Given the description of an element on the screen output the (x, y) to click on. 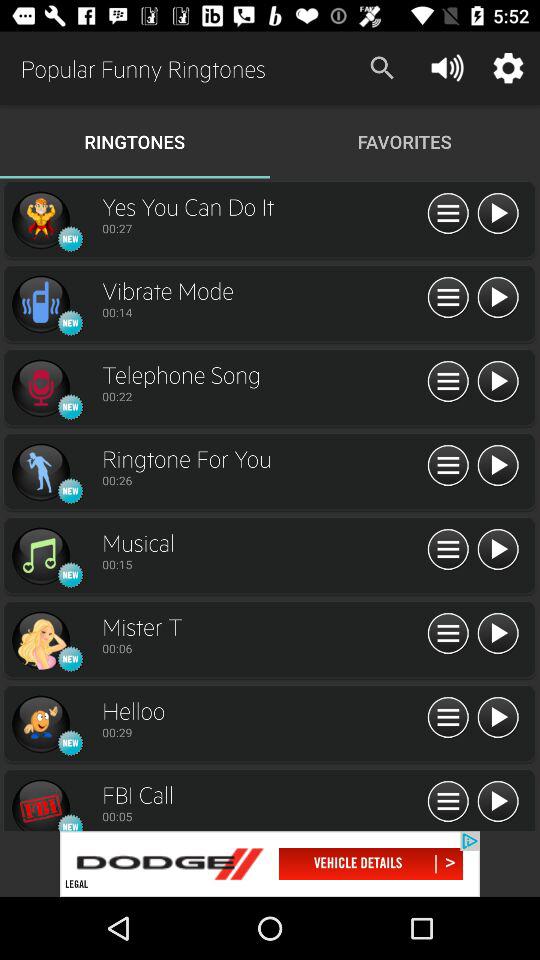
opens a menu (447, 801)
